Given the description of an element on the screen output the (x, y) to click on. 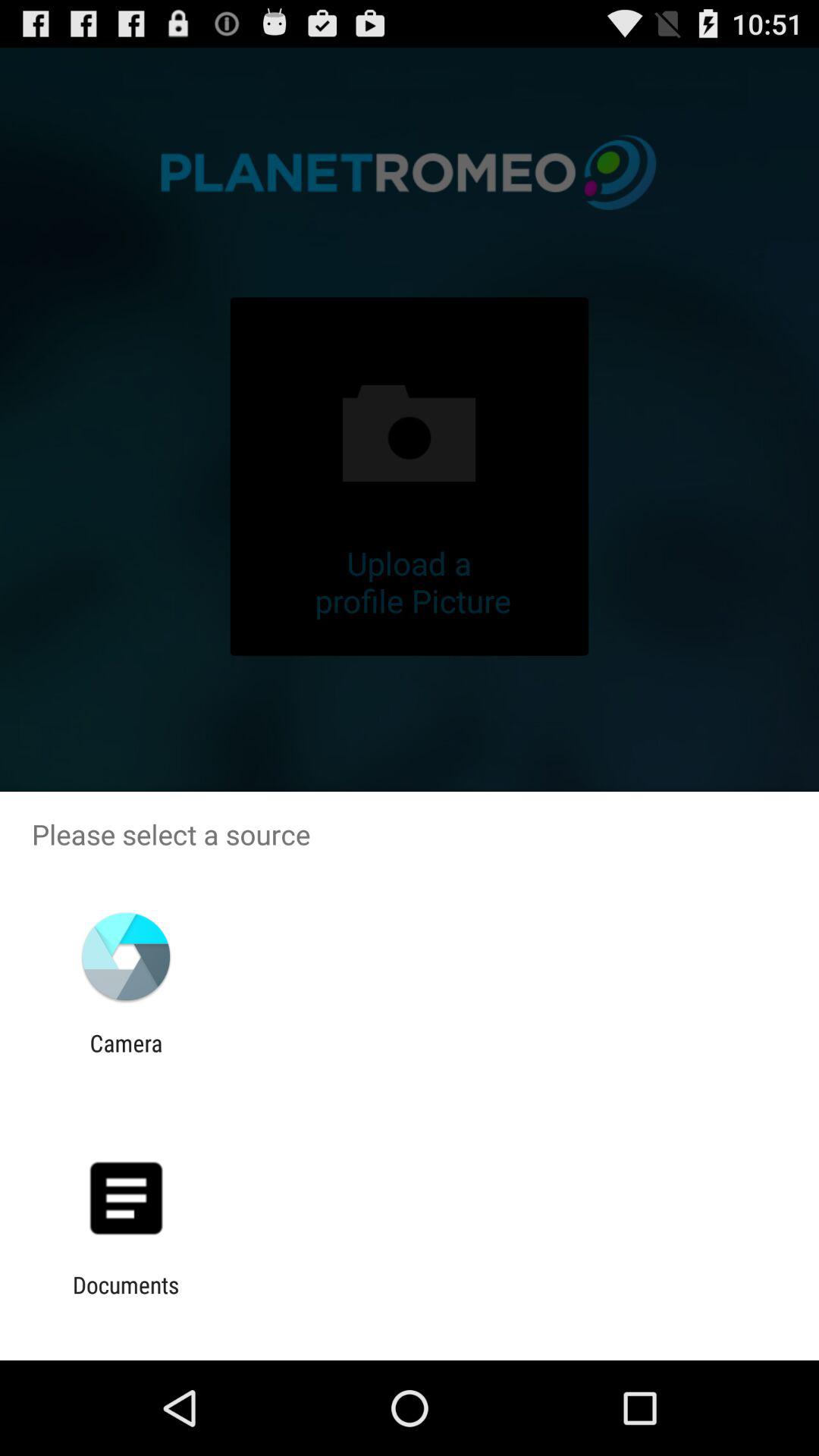
select documents item (125, 1298)
